Given the description of an element on the screen output the (x, y) to click on. 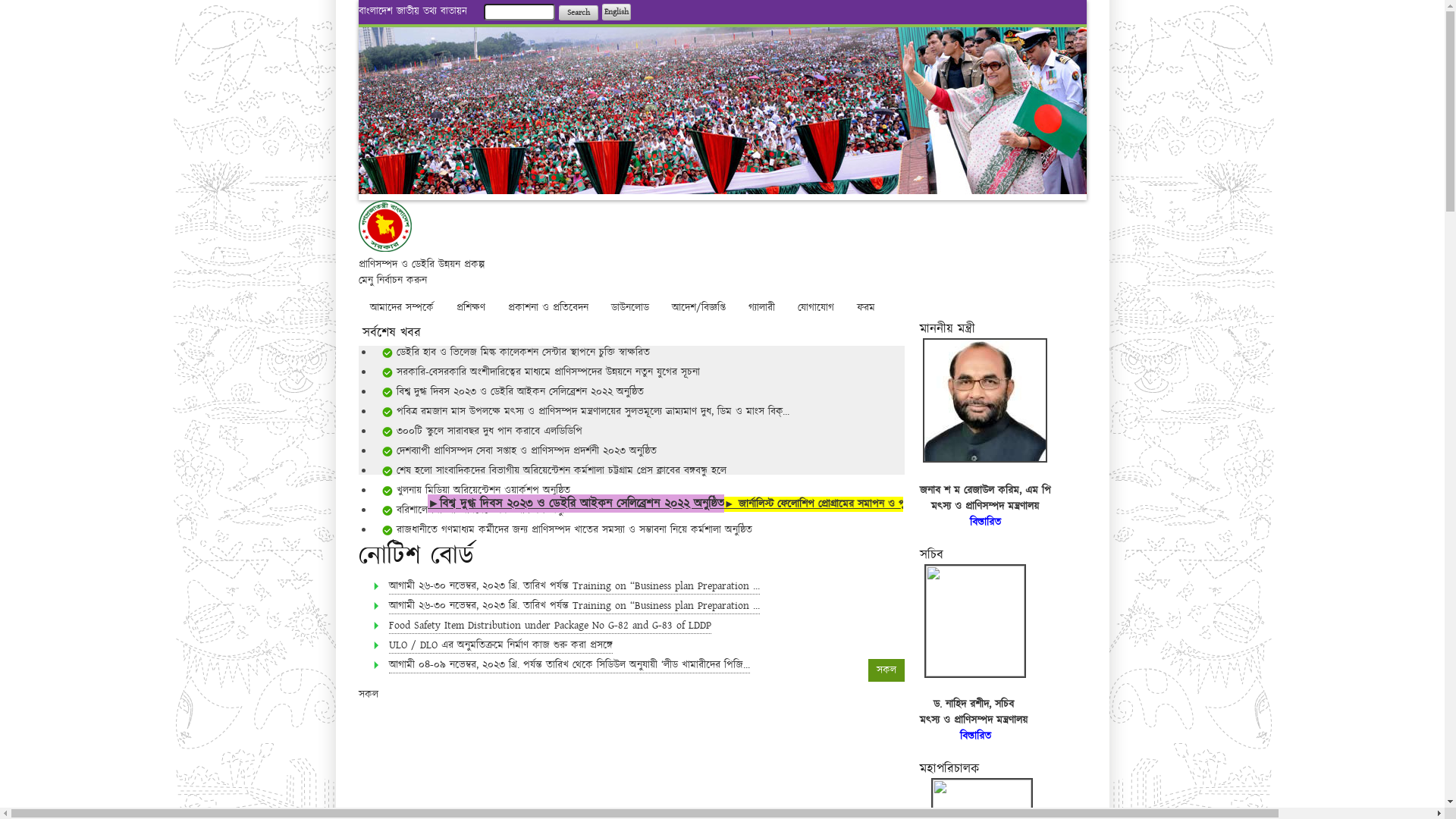
Search Element type: text (577, 12)
Home Element type: hover (384, 248)
English Element type: text (616, 11)
